Given the description of an element on the screen output the (x, y) to click on. 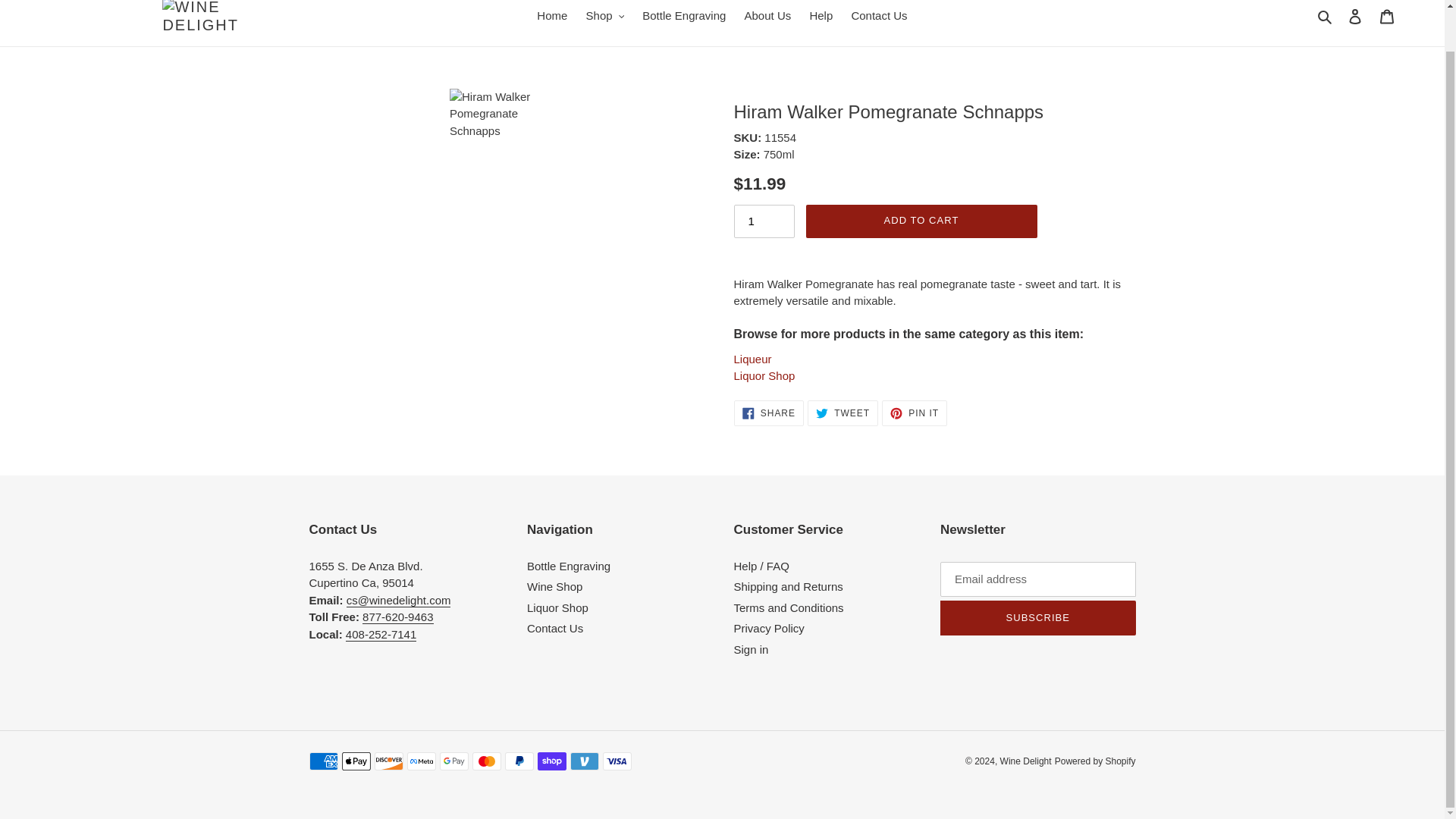
Shop (914, 412)
Liquor Shop (604, 15)
Bottle Engraving (763, 375)
Contact Us (683, 15)
Log in (842, 412)
1 (878, 15)
877-620-9463 (1355, 16)
About Us (763, 221)
408-252-7141 (397, 617)
Cart (767, 15)
Search (381, 634)
ADD TO CART (1387, 16)
Home (1326, 15)
